Given the description of an element on the screen output the (x, y) to click on. 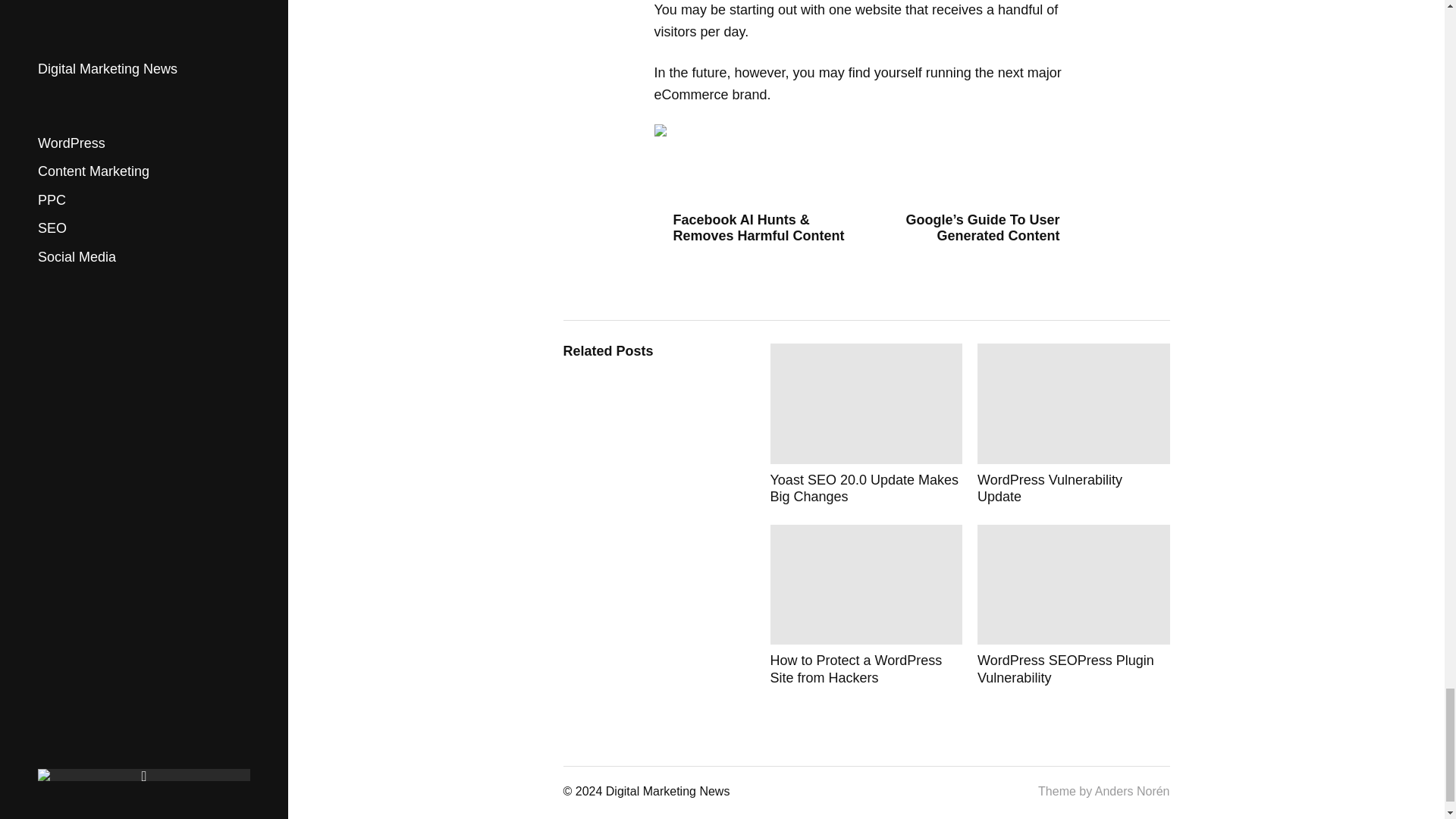
WordPress Vulnerability Update (1073, 424)
Yoast SEO 20.0 Update Makes Big Changes (866, 424)
How to Protect a WordPress Site from Hackers (866, 605)
WordPress SEOPress Plugin Vulnerability (1073, 605)
Digital Marketing News (667, 791)
